Given the description of an element on the screen output the (x, y) to click on. 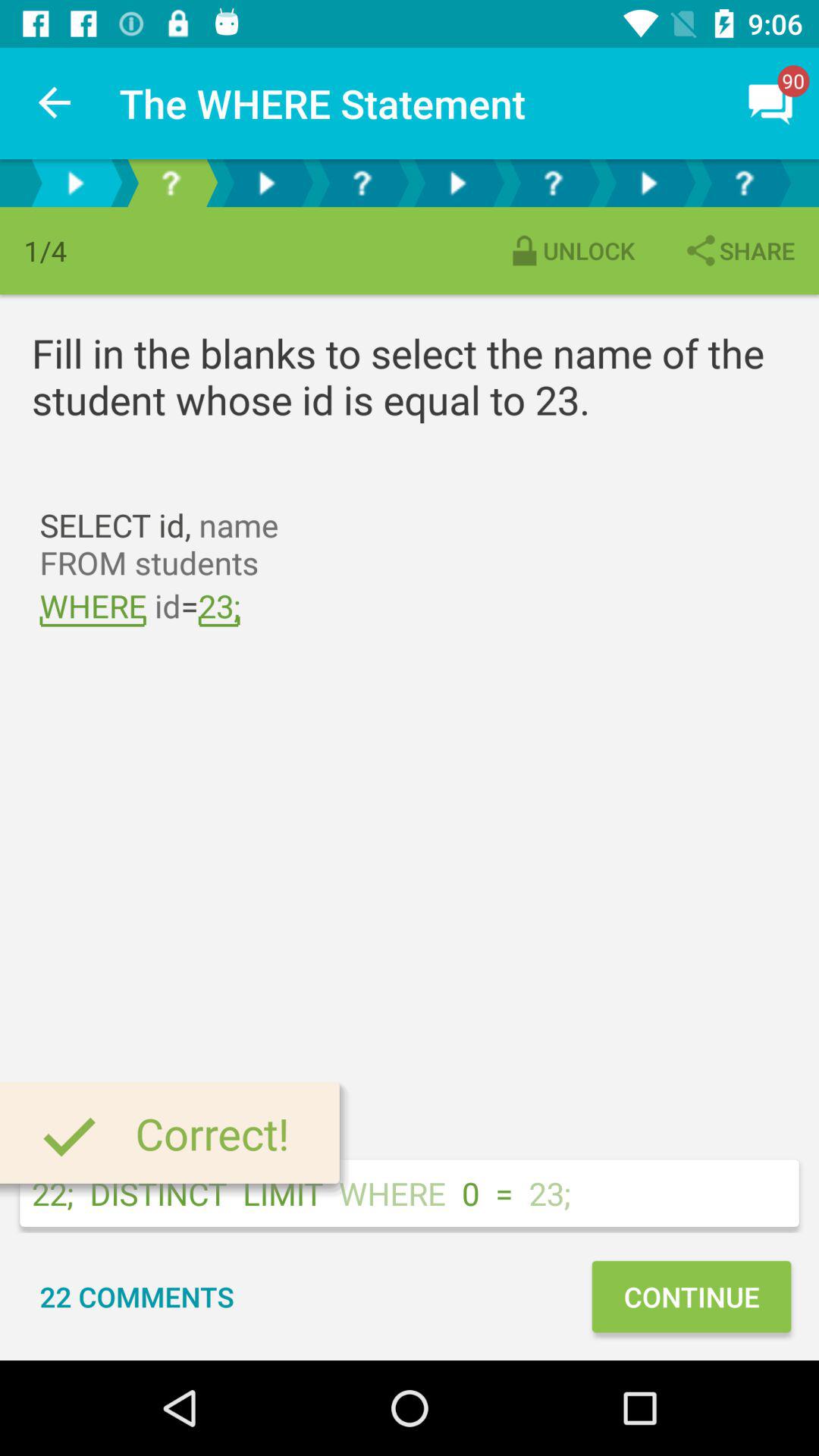
trial question (170, 183)
